Given the description of an element on the screen output the (x, y) to click on. 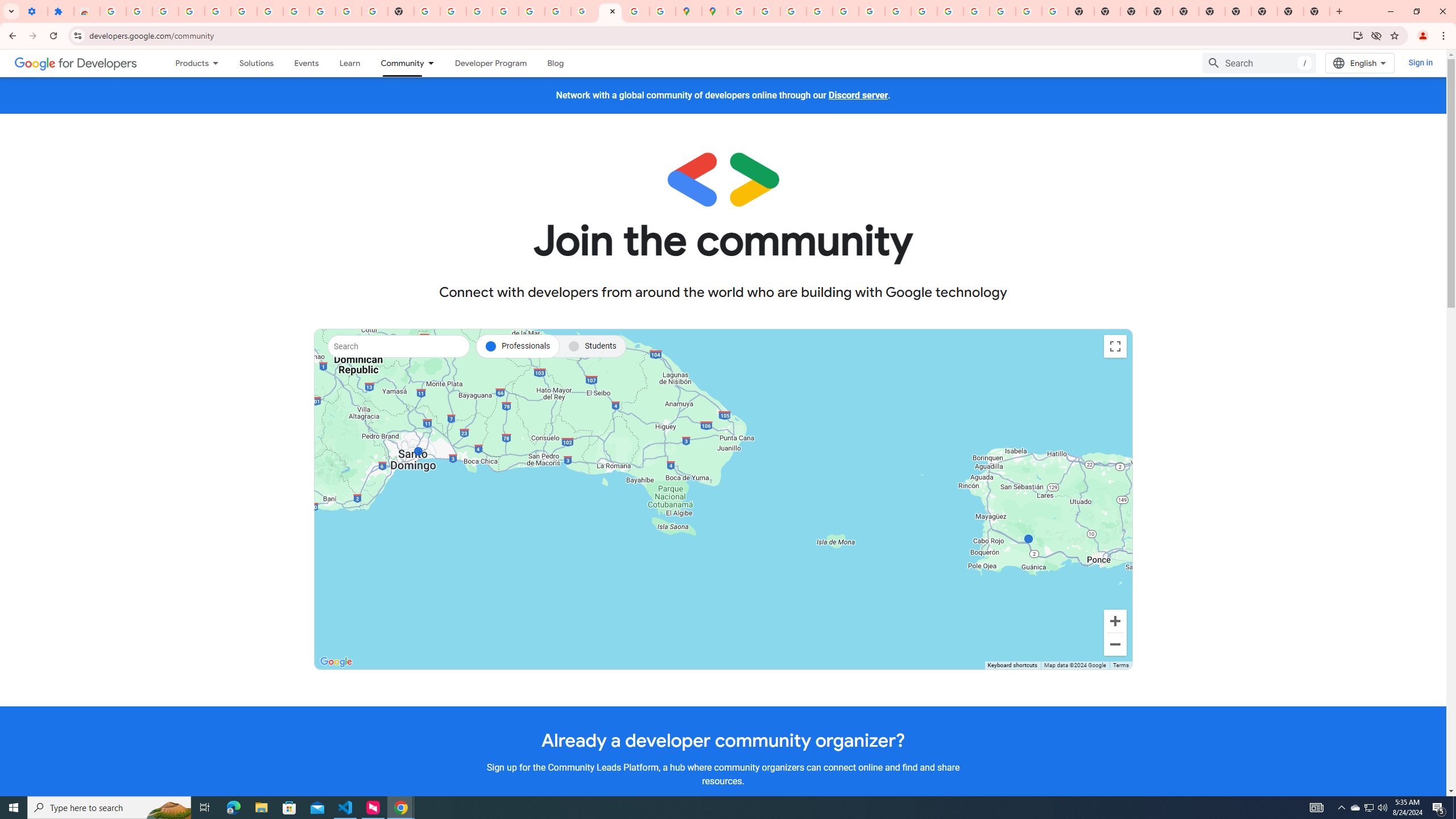
Learning Catalog (350, 62)
Safety in Our Products - Google Safety Center (663, 11)
Install Google Developers (1358, 35)
Blog (556, 62)
Settings - On startup (34, 11)
Delete photos & videos - Computer - Google Photos Help (191, 11)
Privacy Help Center - Policies Help (792, 11)
Community, selected (396, 62)
Events (306, 62)
